Given the description of an element on the screen output the (x, y) to click on. 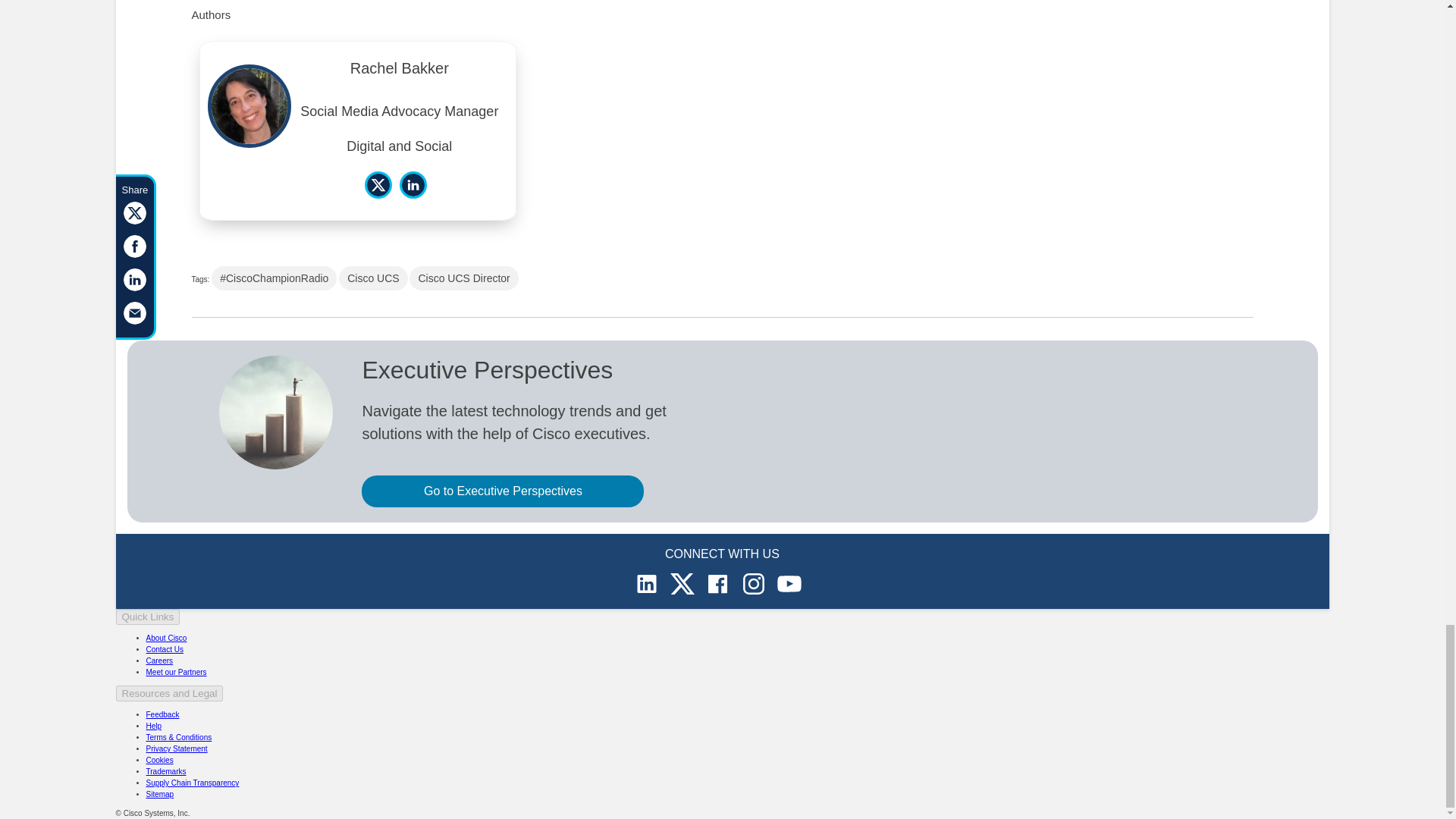
Cisco UCS (373, 278)
Go to Executive Perspectives (502, 490)
Cisco UCS Director (463, 278)
Rachel Bakker (399, 71)
